Given the description of an element on the screen output the (x, y) to click on. 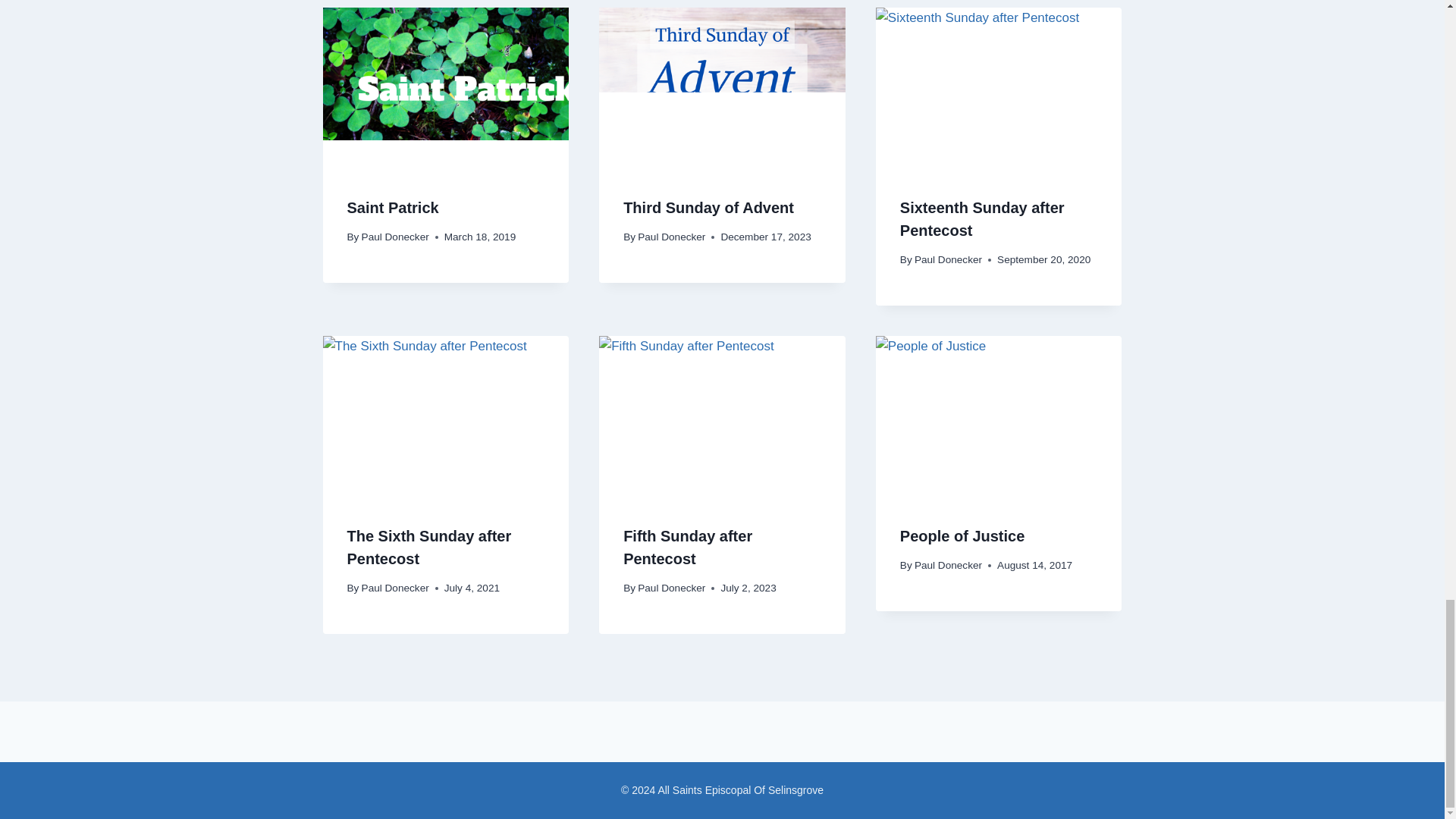
Paul Donecker (947, 259)
Paul Donecker (395, 236)
Third Sunday of Advent (708, 207)
Paul Donecker (670, 236)
Saint Patrick (393, 207)
Sixteenth Sunday after Pentecost (981, 219)
